Given the description of an element on the screen output the (x, y) to click on. 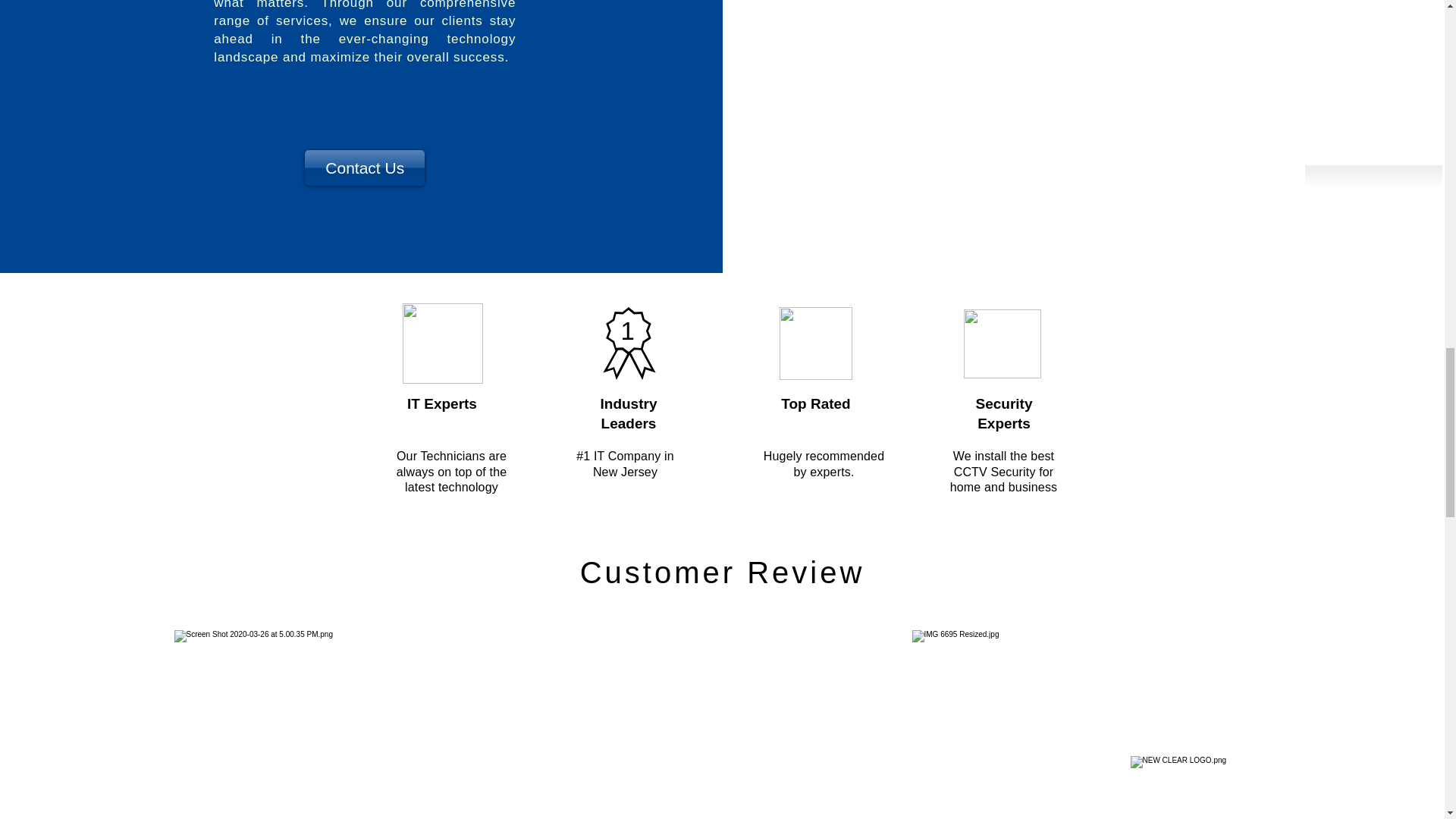
Contact Us (364, 167)
